Given the description of an element on the screen output the (x, y) to click on. 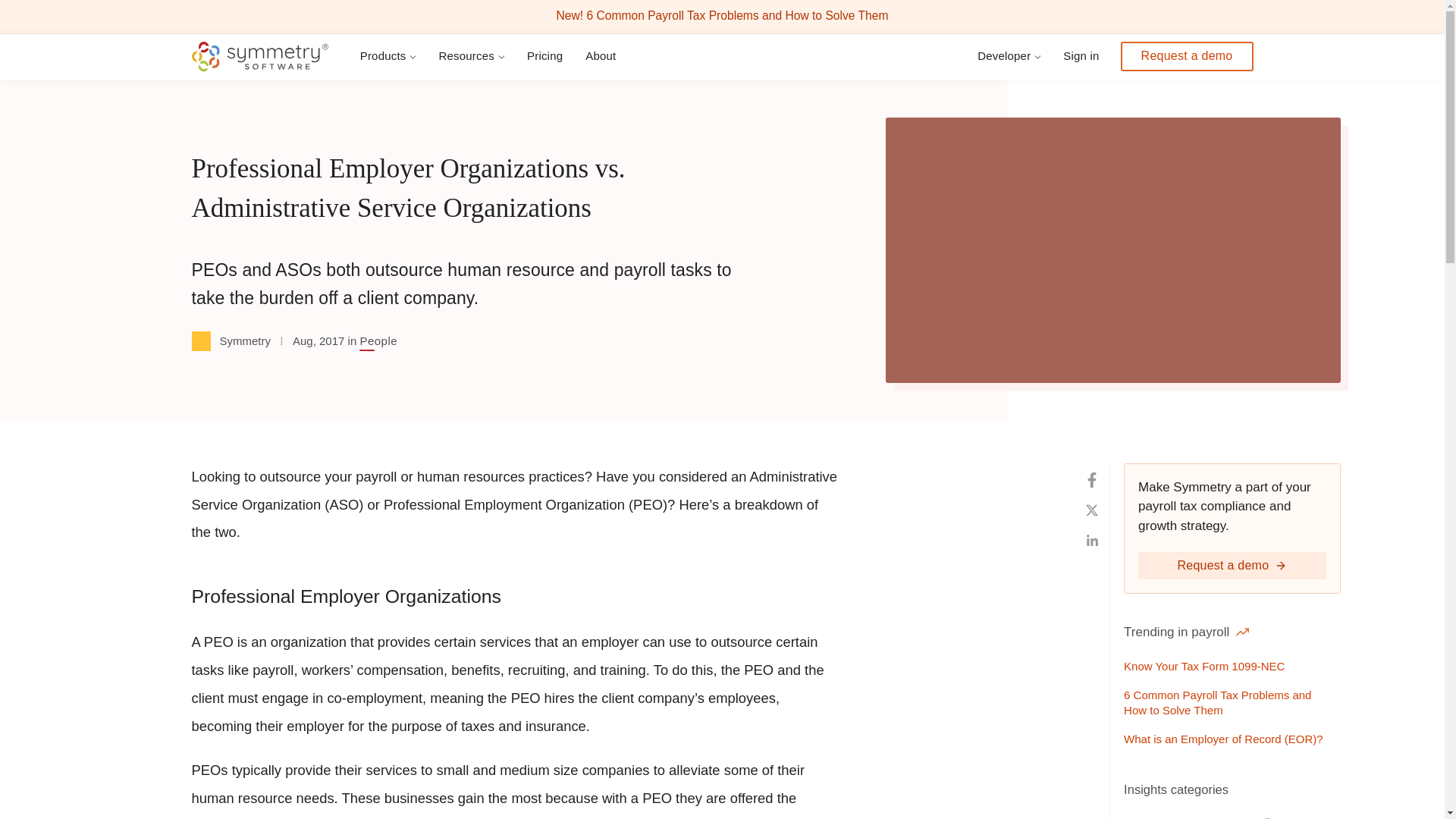
People (378, 340)
Share on LinkedIn (1091, 540)
Developer (1012, 56)
6 Common Payroll Tax Problems and How to Solve Them (1229, 702)
Symmetry Software (258, 56)
Trending in payroll (1186, 631)
Sign in (1084, 56)
Resources (474, 56)
Company (1173, 815)
